Given the description of an element on the screen output the (x, y) to click on. 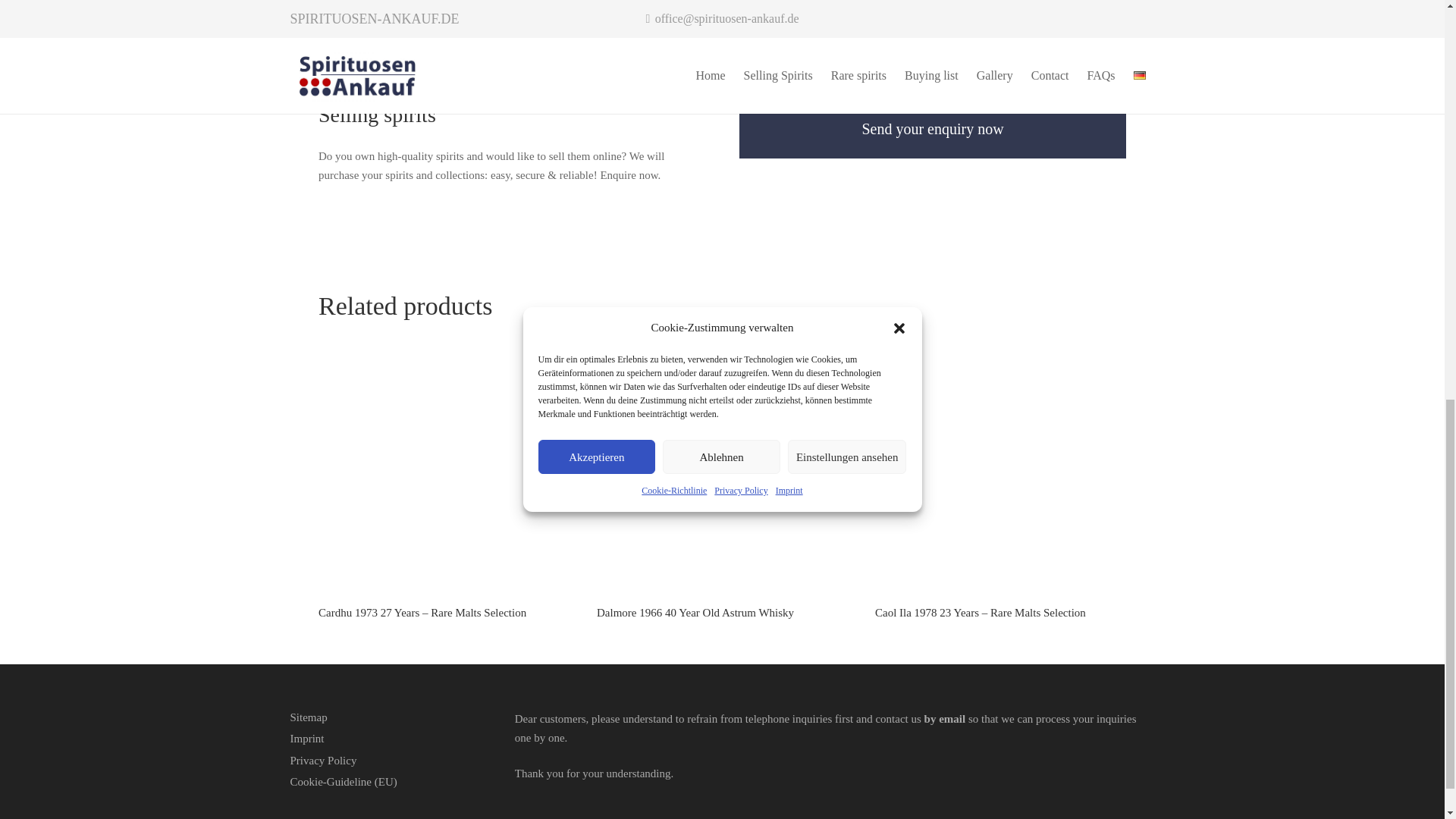
Back to top (1413, 26)
Ihre Anfrage (932, 128)
